Given the description of an element on the screen output the (x, y) to click on. 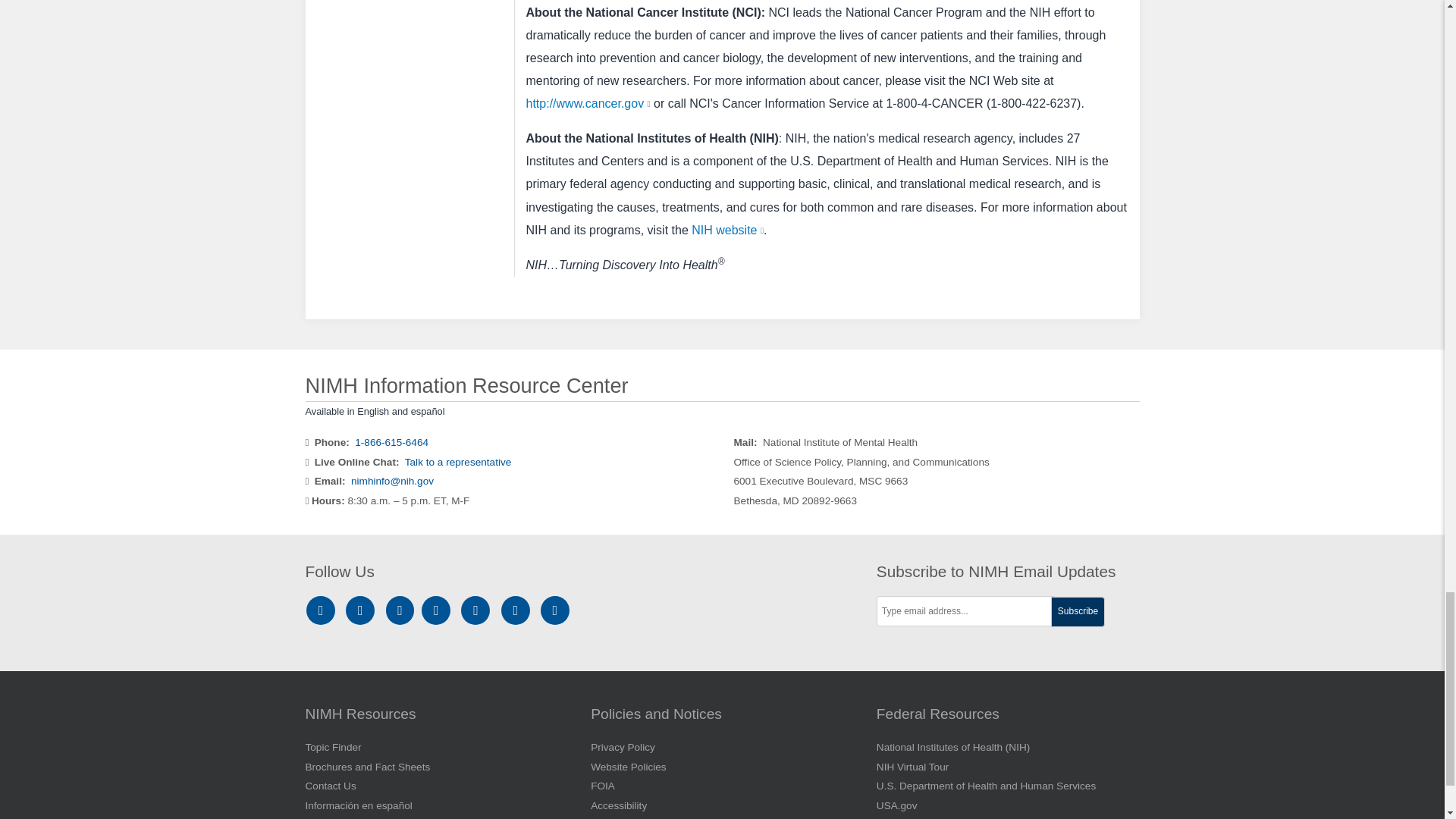
Subscribe (1078, 612)
NIMH Twitter (438, 610)
NIMH YouTube (478, 610)
NIMH Facebook (363, 610)
NIMH News Feeds (555, 610)
National Institutes of Health (536, 229)
NIMH Instagram (322, 610)
NIMH Newsletters (515, 610)
NIMH LinkedIn (402, 610)
